Given the description of an element on the screen output the (x, y) to click on. 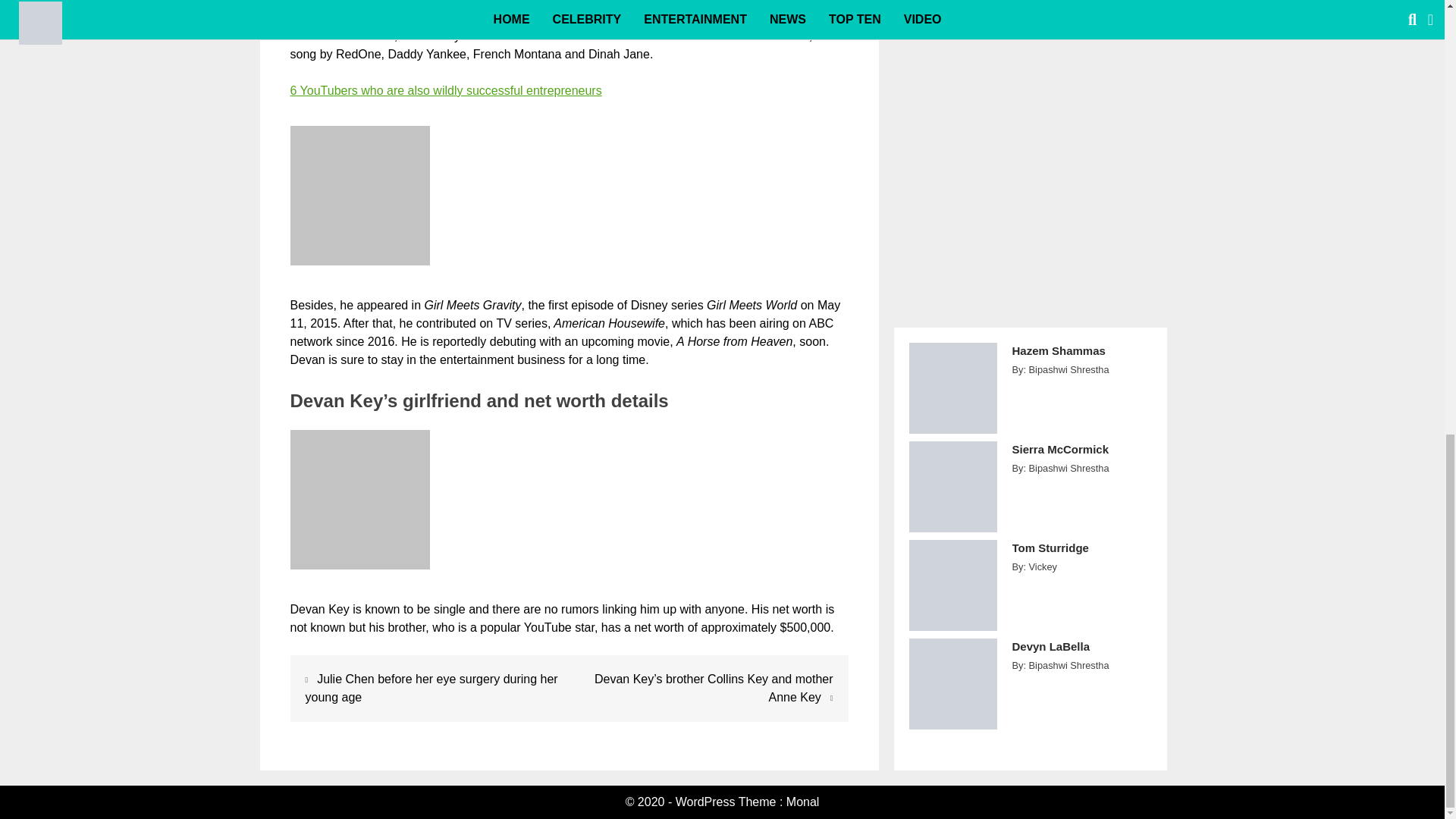
Shirtless Devan Key on Snapchat (359, 499)
Devan Key's brother Collin Key with their mother (359, 195)
6 YouTubers who are also wildly successful entrepreneurs (445, 90)
6 YouTubers who are also wildly successful entrepreneurs (445, 90)
Julie Chen before her eye surgery during her young age (430, 687)
